Given the description of an element on the screen output the (x, y) to click on. 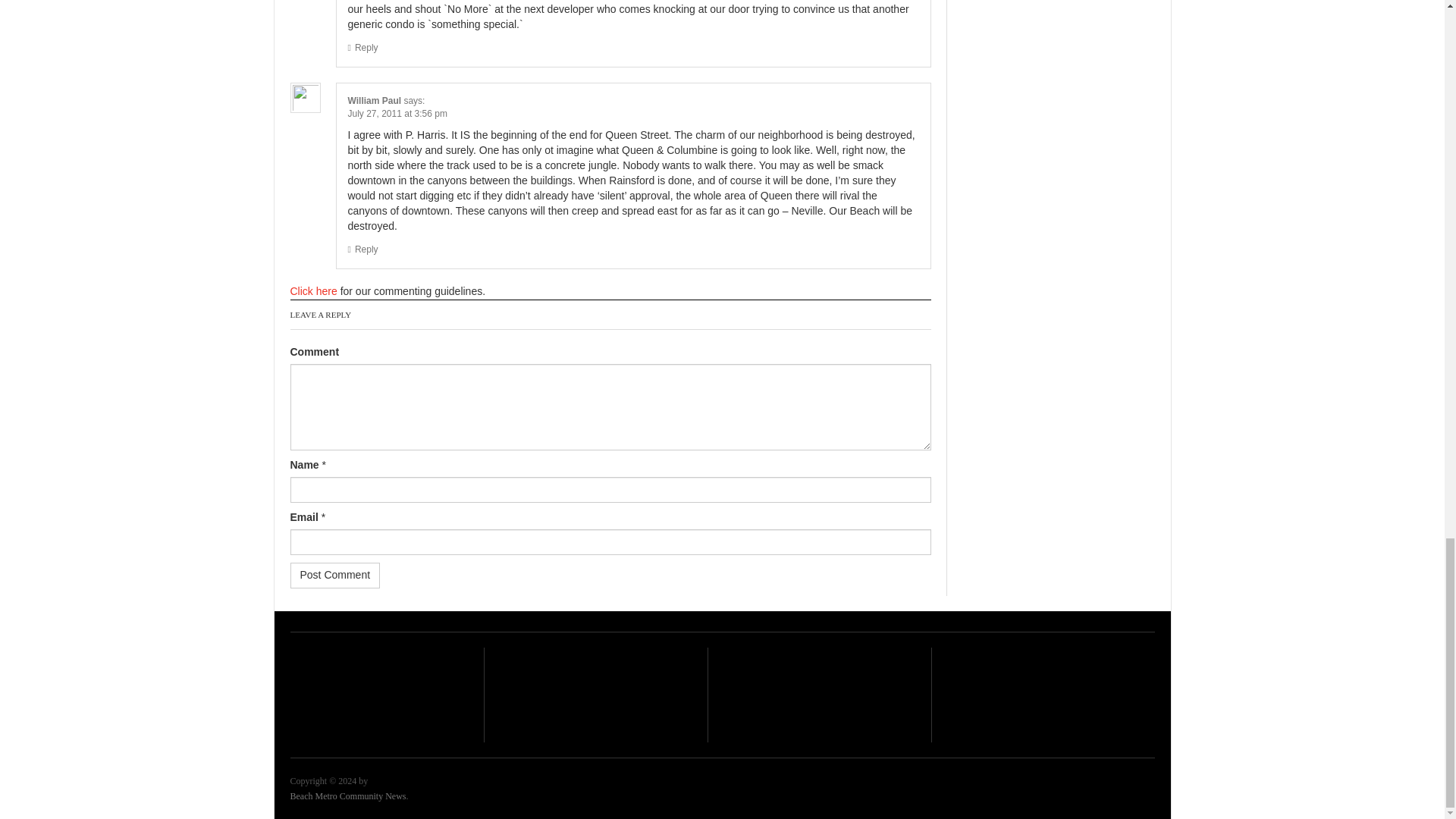
Post Comment (334, 575)
